Given the description of an element on the screen output the (x, y) to click on. 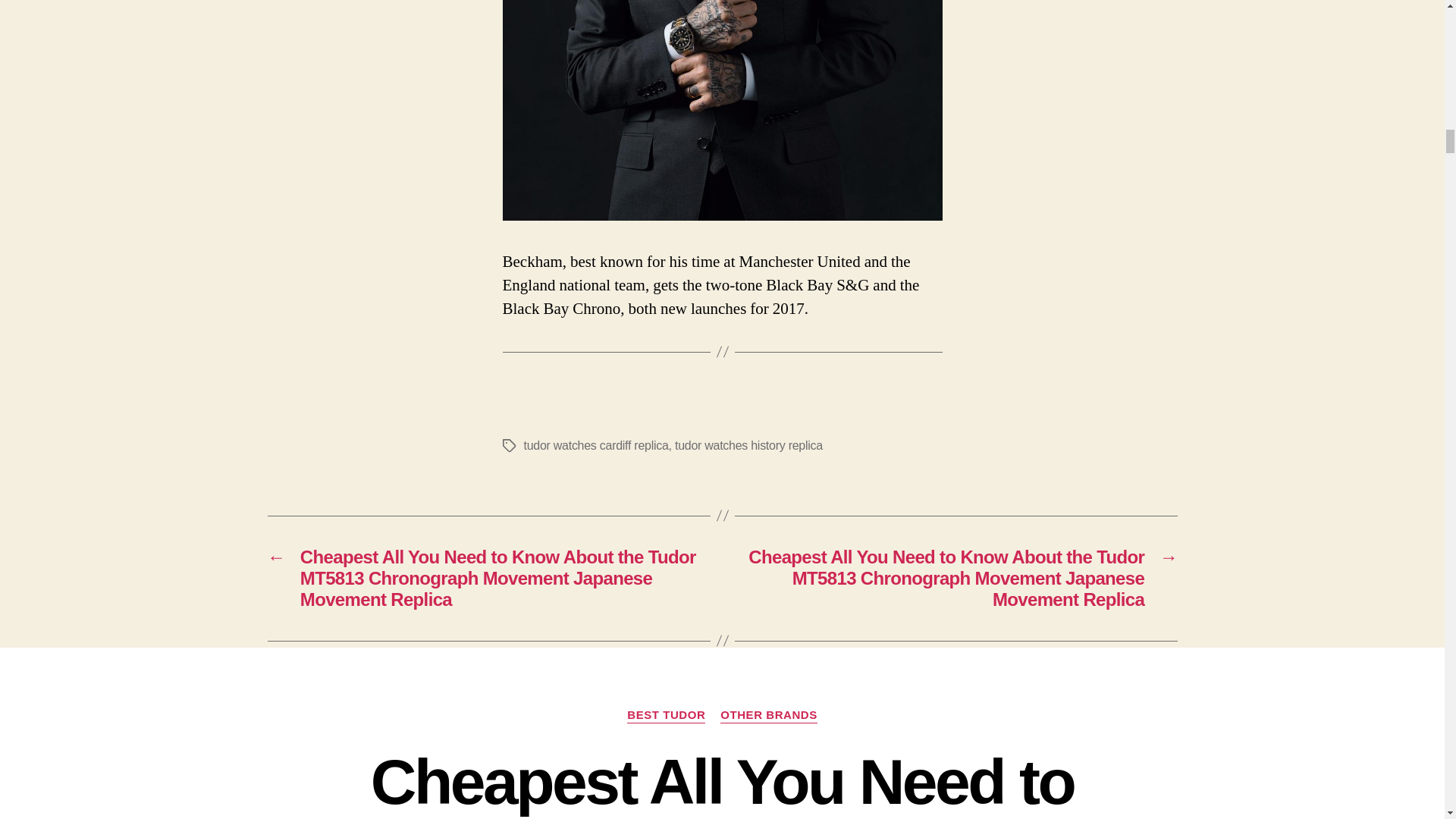
BEST TUDOR (665, 715)
OTHER BRANDS (768, 715)
tudor watches history replica (748, 445)
tudor watches cardiff replica (595, 445)
